Given the description of an element on the screen output the (x, y) to click on. 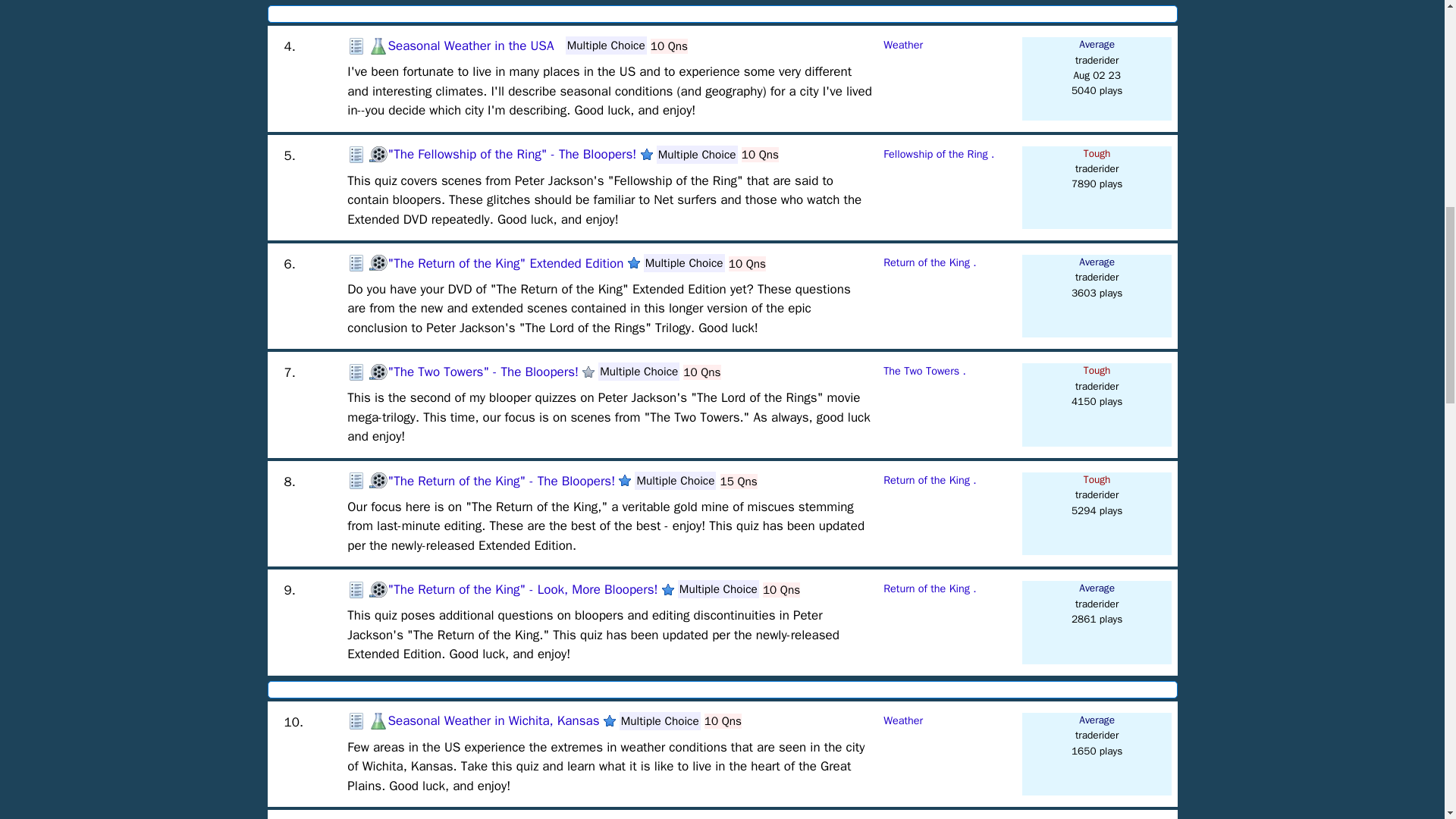
A well rated quiz (609, 720)
A well rated quiz (646, 154)
A well rated quiz (633, 263)
A well rated quiz (624, 480)
A well rated quiz (668, 589)
